Given the description of an element on the screen output the (x, y) to click on. 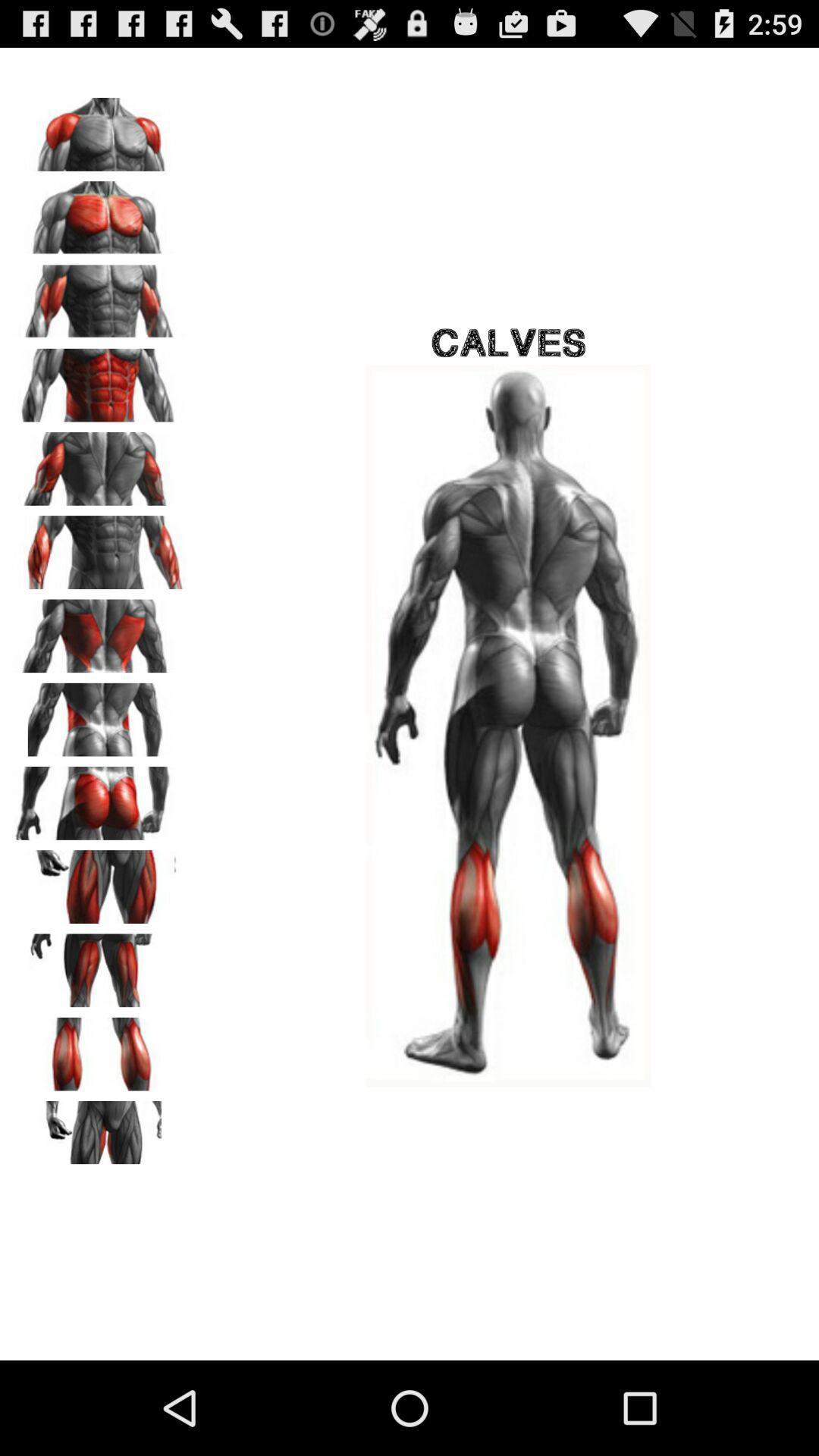
select exercise (99, 1132)
